Given the description of an element on the screen output the (x, y) to click on. 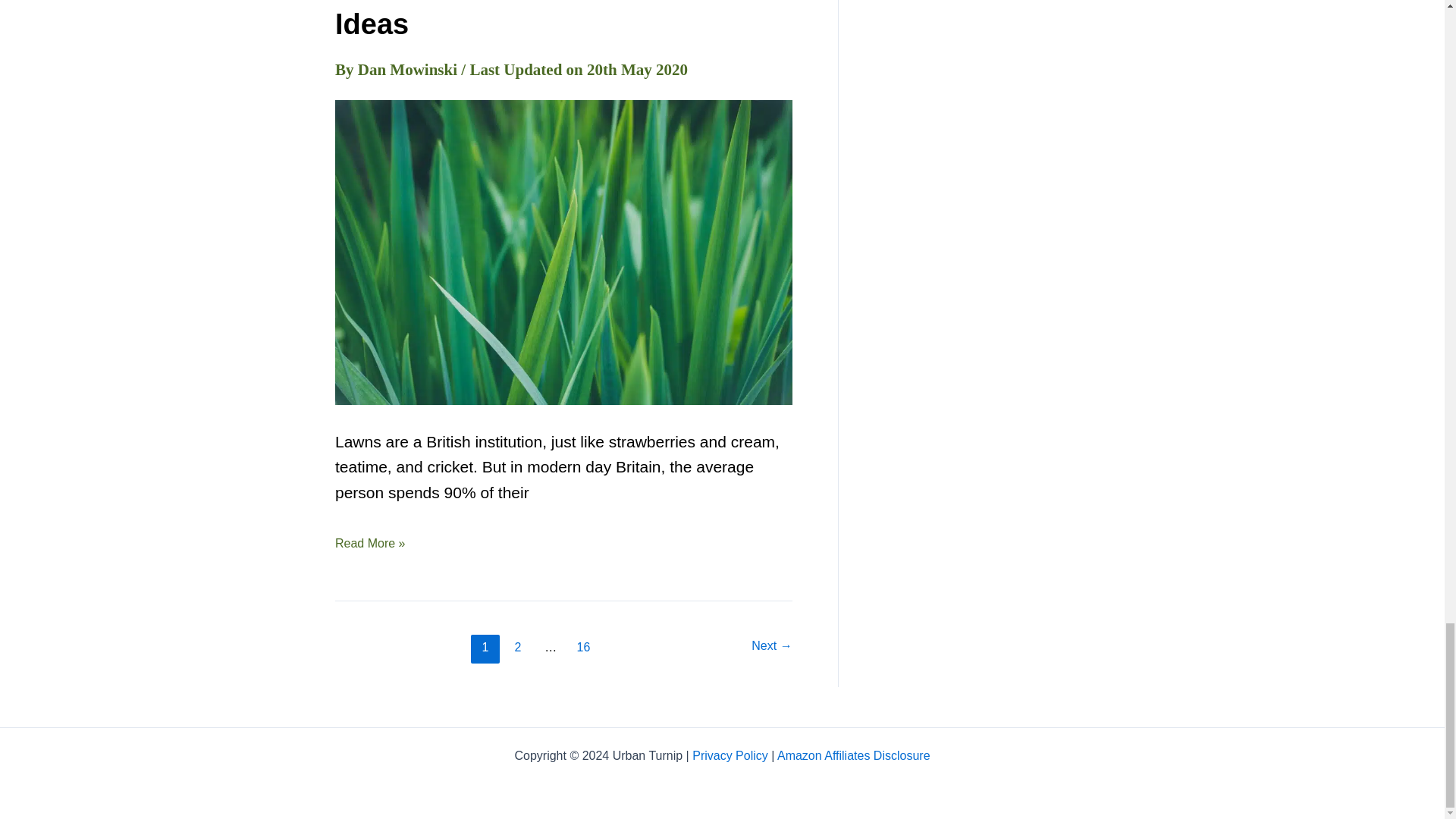
View all posts by Dan Mowinski (409, 69)
